Given the description of an element on the screen output the (x, y) to click on. 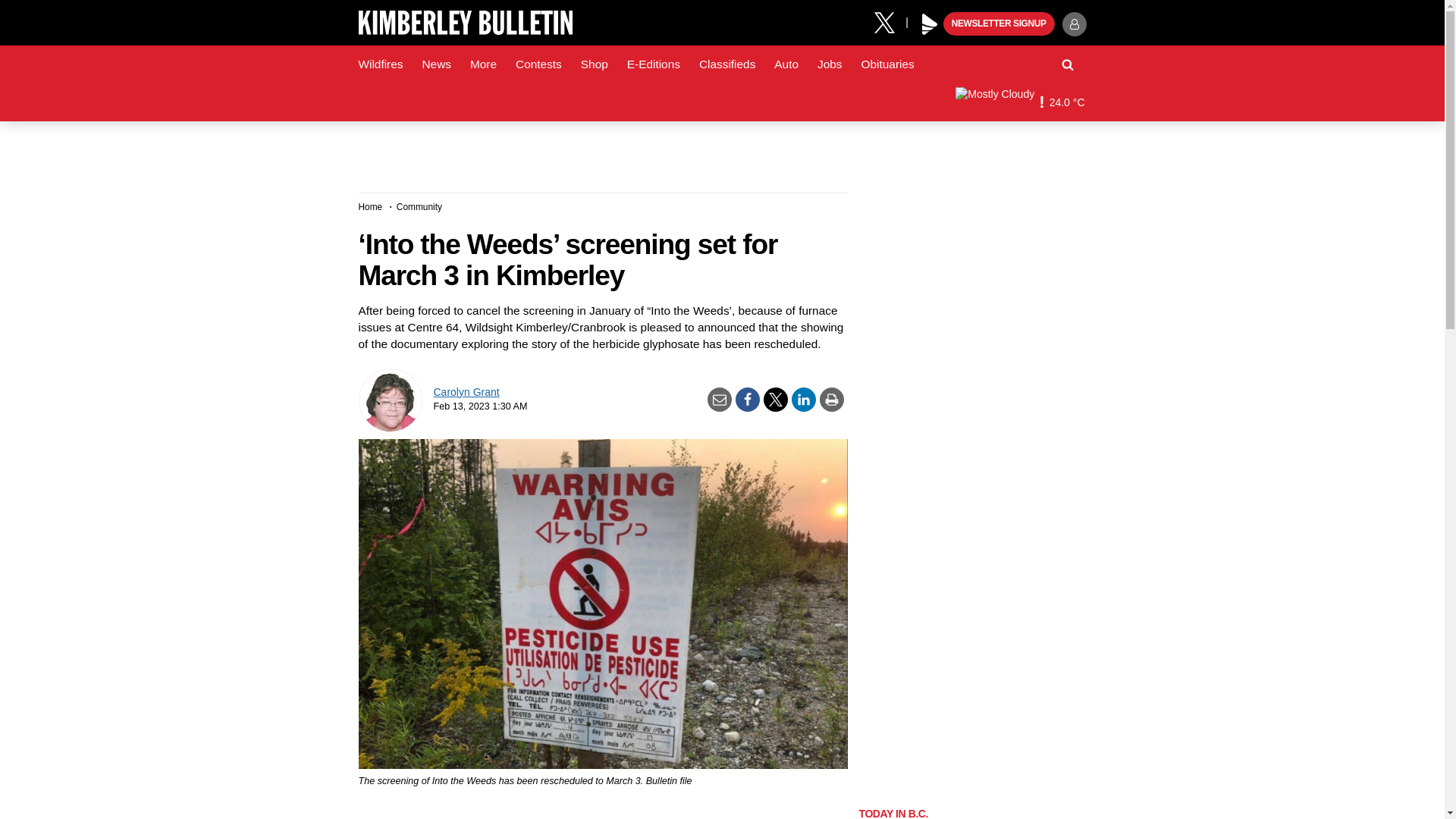
News (435, 64)
X (889, 21)
NEWSLETTER SIGNUP (998, 24)
Play (929, 24)
Wildfires (380, 64)
Black Press Media (929, 24)
